Given the description of an element on the screen output the (x, y) to click on. 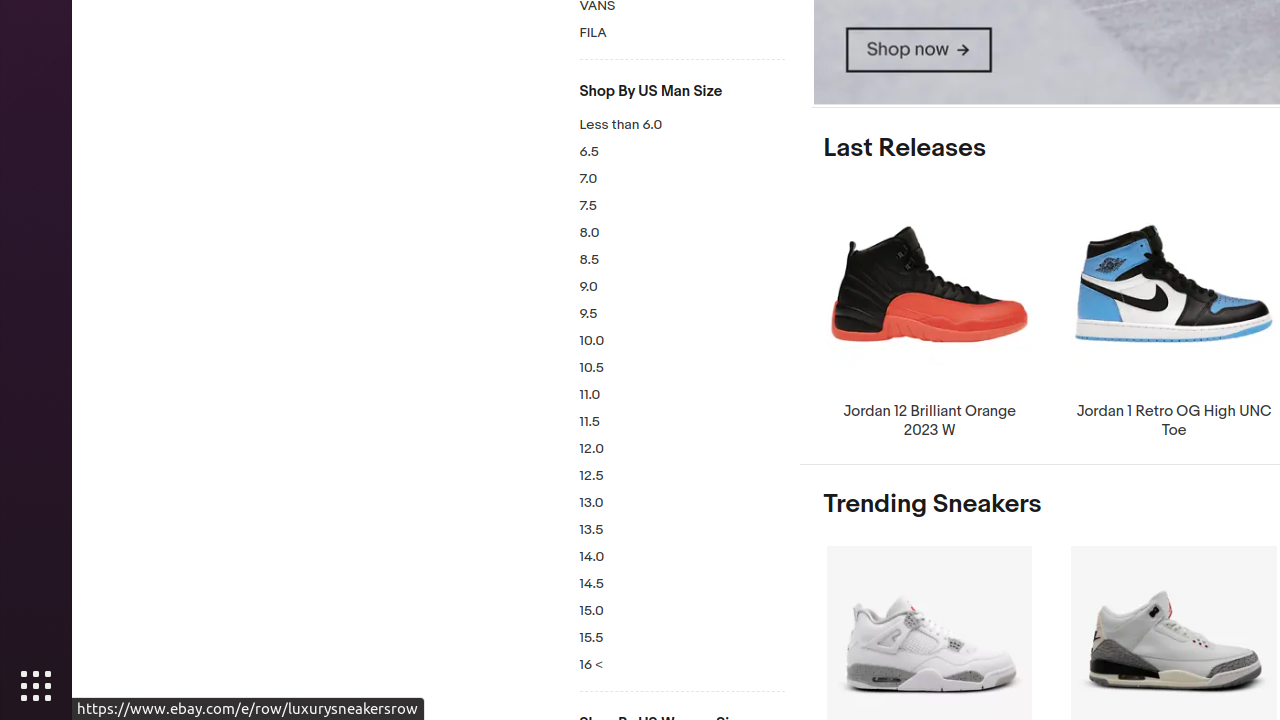
13.0 Element type: link (682, 503)
8.5 Element type: link (682, 260)
8.0 Element type: link (682, 233)
10.5 Element type: link (682, 368)
9.0 Element type: link (682, 287)
